Given the description of an element on the screen output the (x, y) to click on. 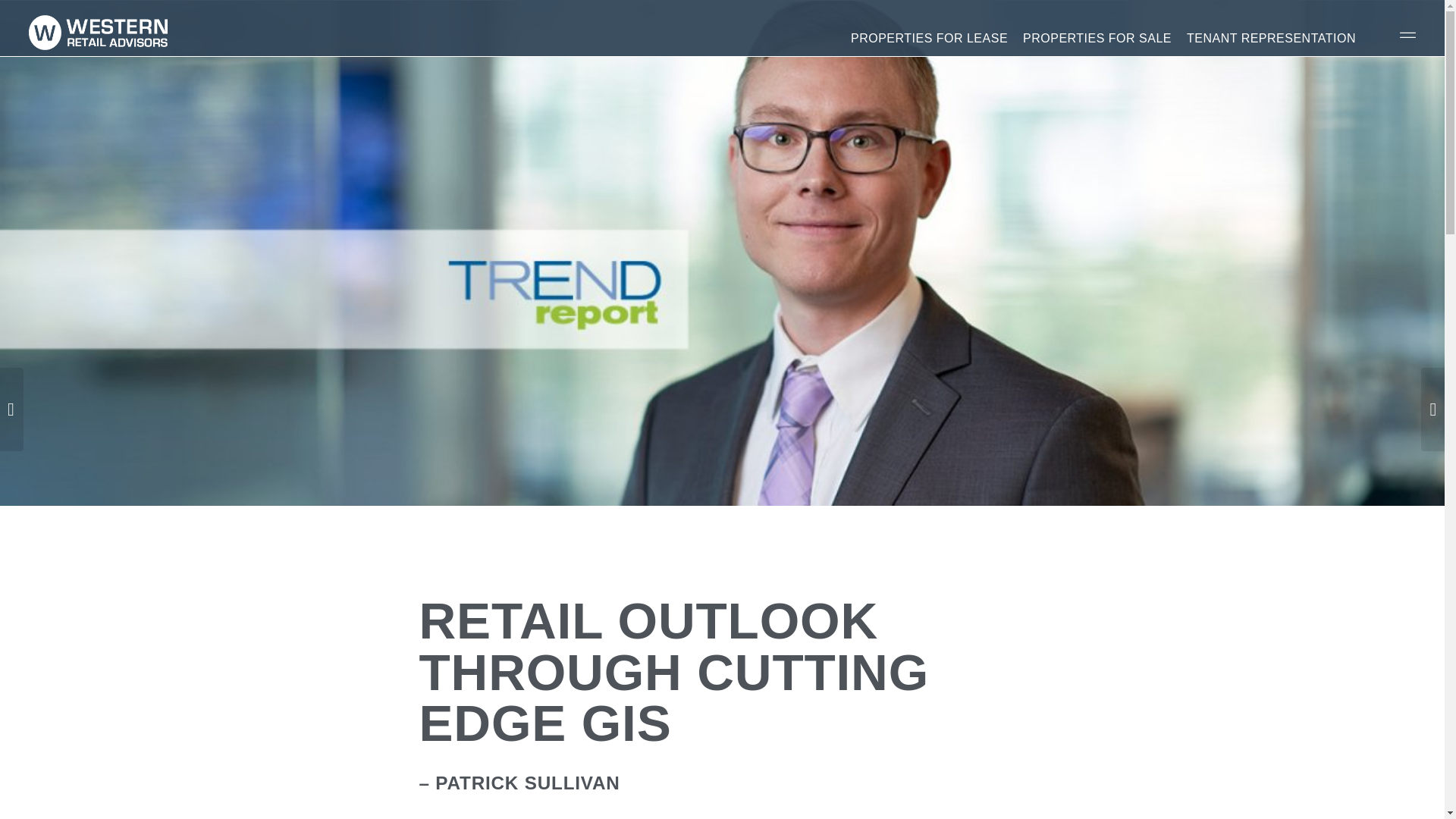
PROPERTIES FOR SALE (1096, 27)
TENANT REPRESENTATION (1270, 27)
PROPERTIES FOR LEASE (928, 27)
